Given the description of an element on the screen output the (x, y) to click on. 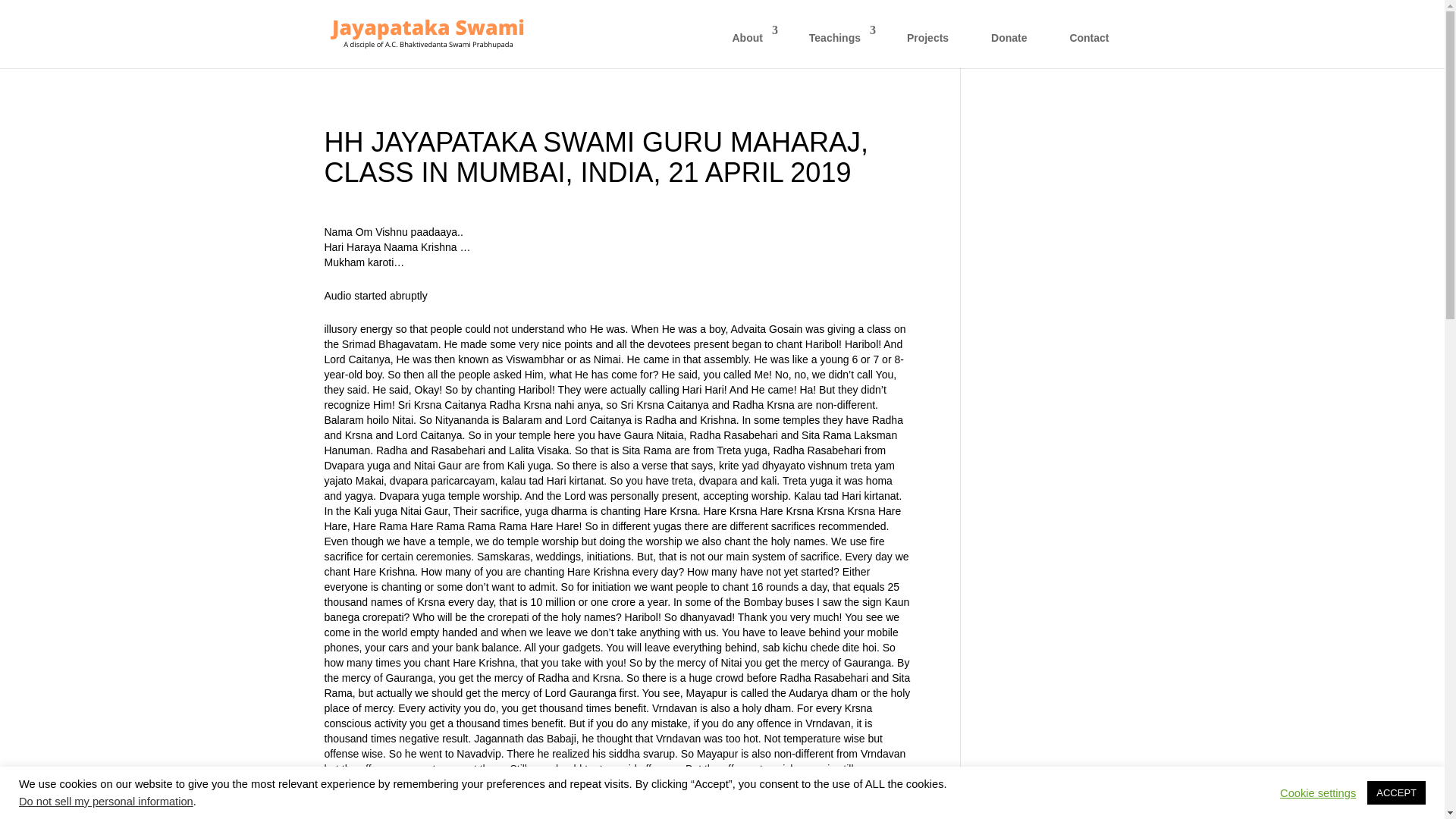
Contact (1088, 46)
About (748, 46)
Projects (927, 46)
Do not sell my personal information (105, 801)
ACCEPT (1396, 792)
Donate (1008, 46)
Teachings (836, 46)
Cookie settings (1317, 792)
